Given the description of an element on the screen output the (x, y) to click on. 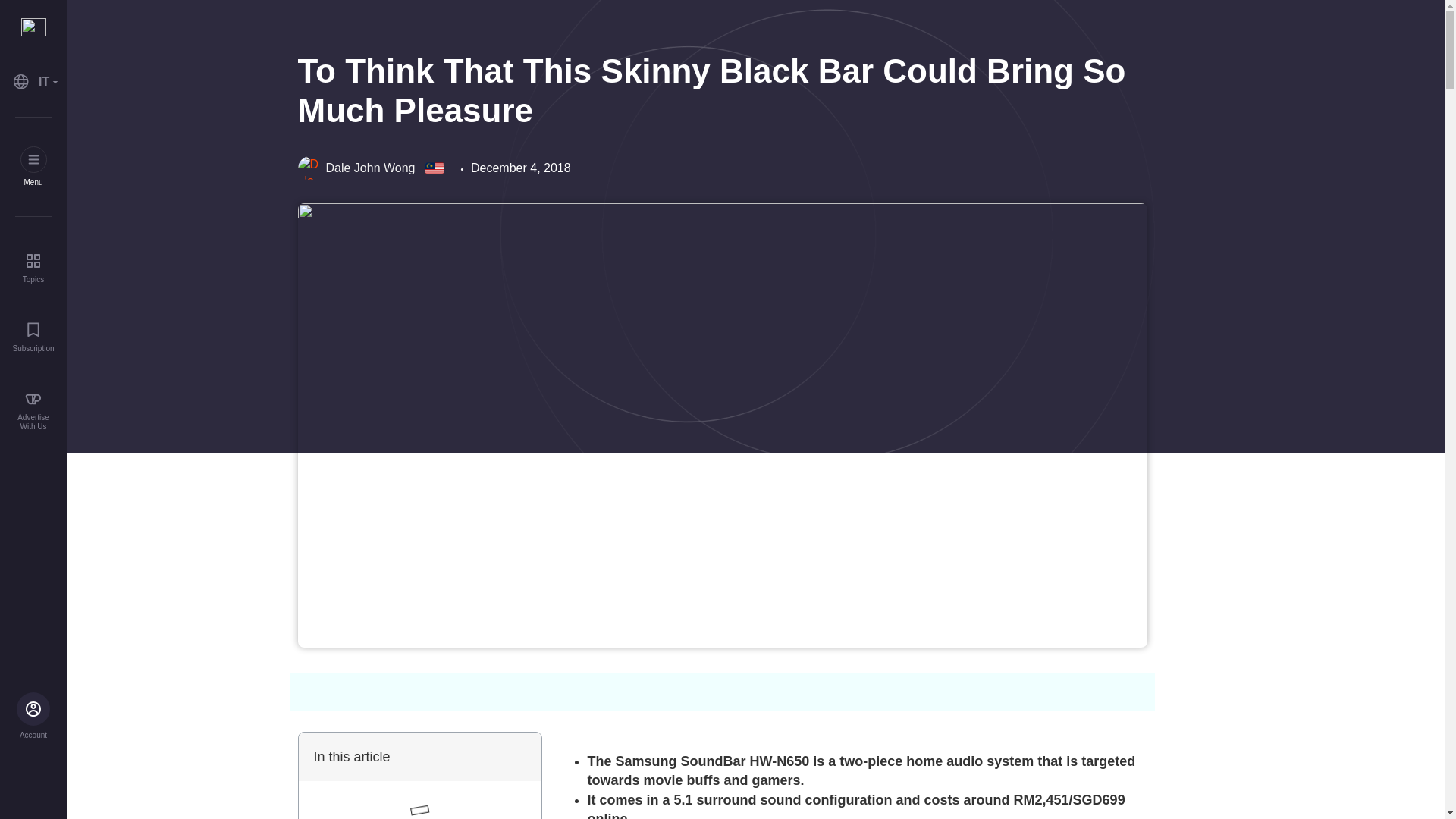
Topics (33, 267)
Menu (33, 166)
IT (33, 81)
Advertise With Us (33, 410)
Subscription (33, 336)
Dale John Wong (355, 168)
